Given the description of an element on the screen output the (x, y) to click on. 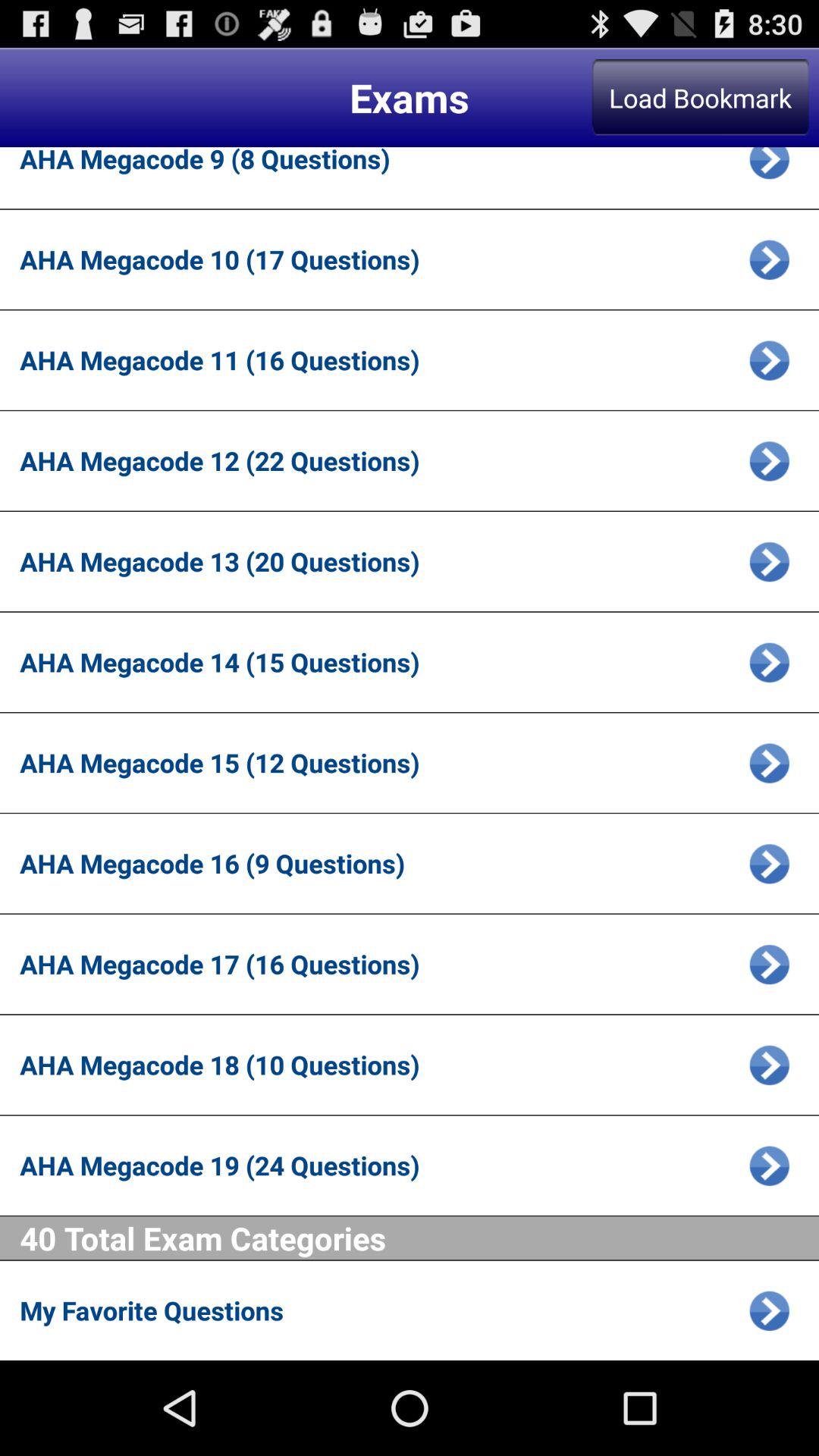
open exam page (769, 259)
